Given the description of an element on the screen output the (x, y) to click on. 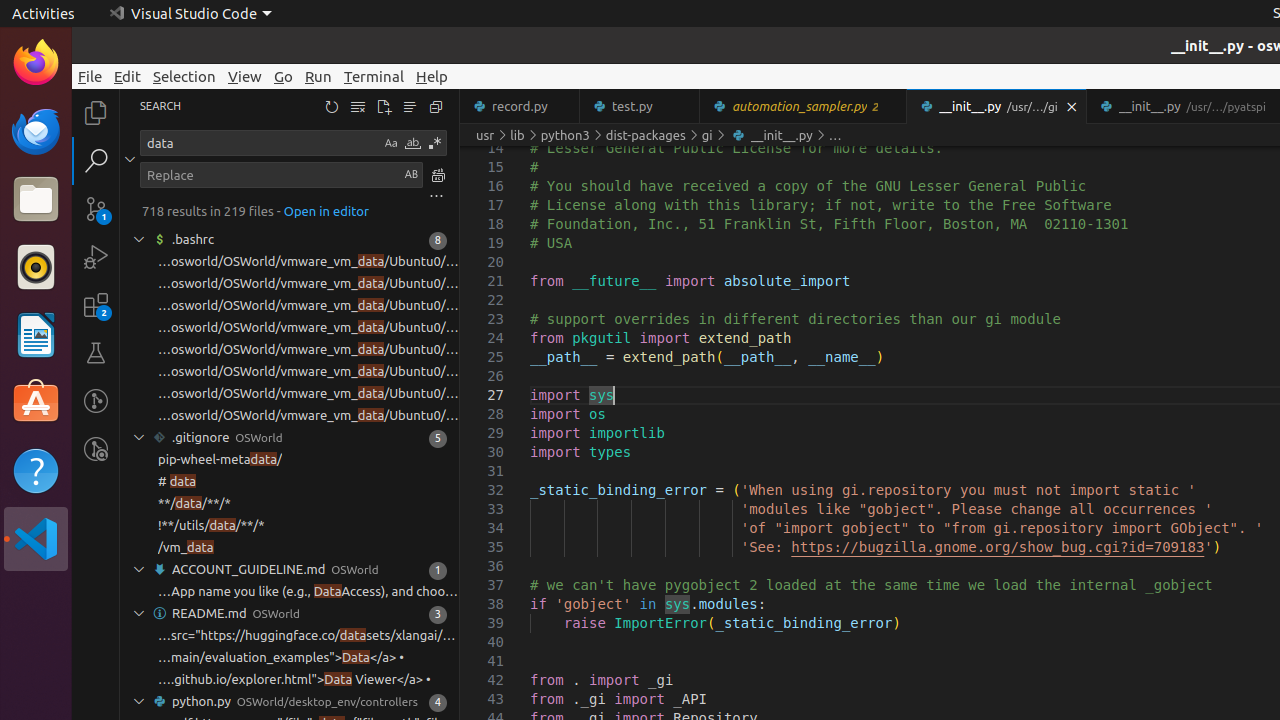
…osworld/OSWorld/vmware_vm_data/Ubuntu0/Ubuntu0.vmx" Element type: link (308, 261)
'pip-wheel-metadata/' at column 15 found data Element type: tree-item (289, 459)
 Element type: push-button (436, 196)
File Element type: push-button (90, 76)
!**/utils/data/**/* Element type: link (211, 525)
